Given the description of an element on the screen output the (x, y) to click on. 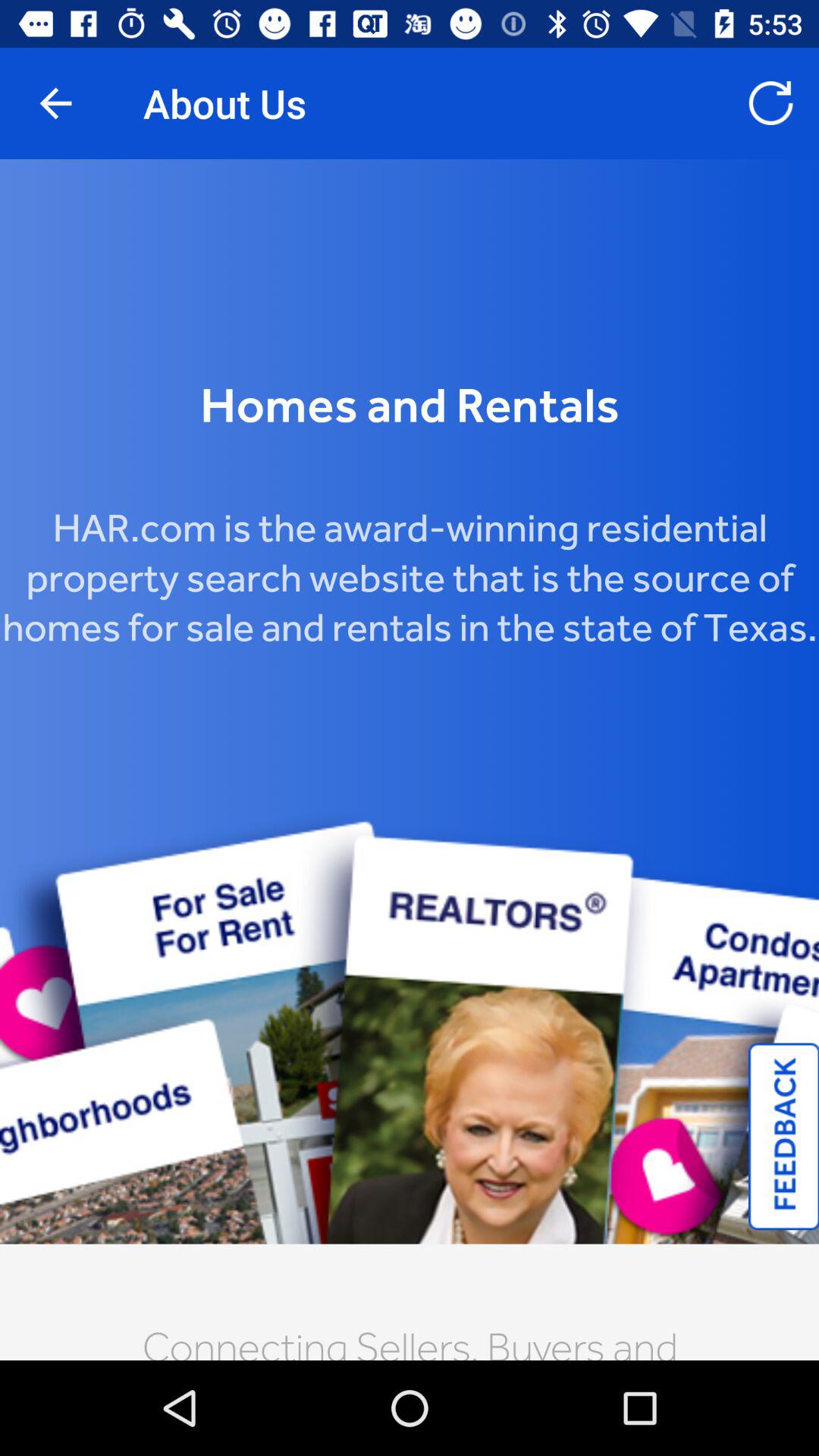
har.com (409, 759)
